Given the description of an element on the screen output the (x, y) to click on. 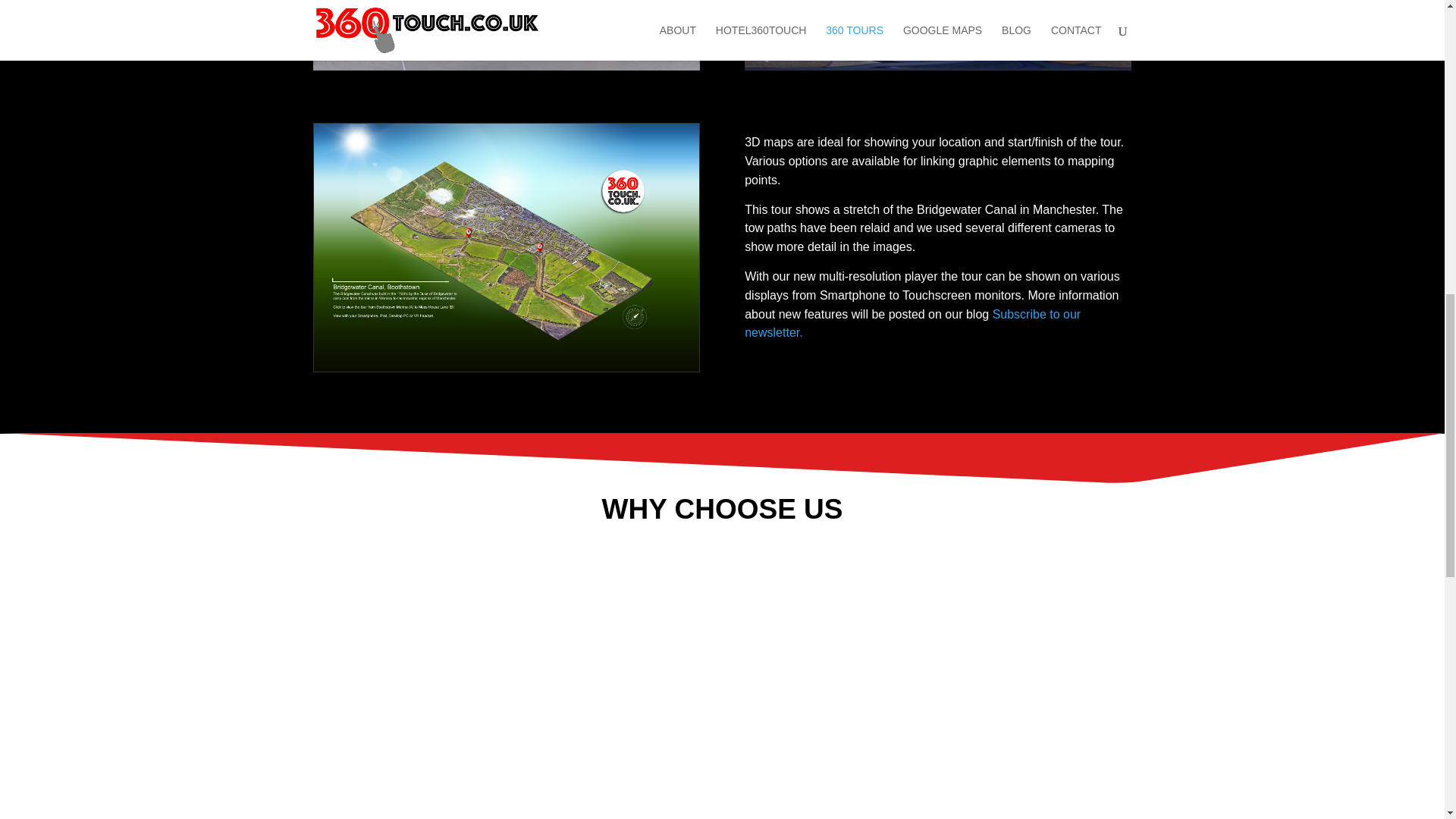
Subscribe to our newsletter. (912, 323)
